Given the description of an element on the screen output the (x, y) to click on. 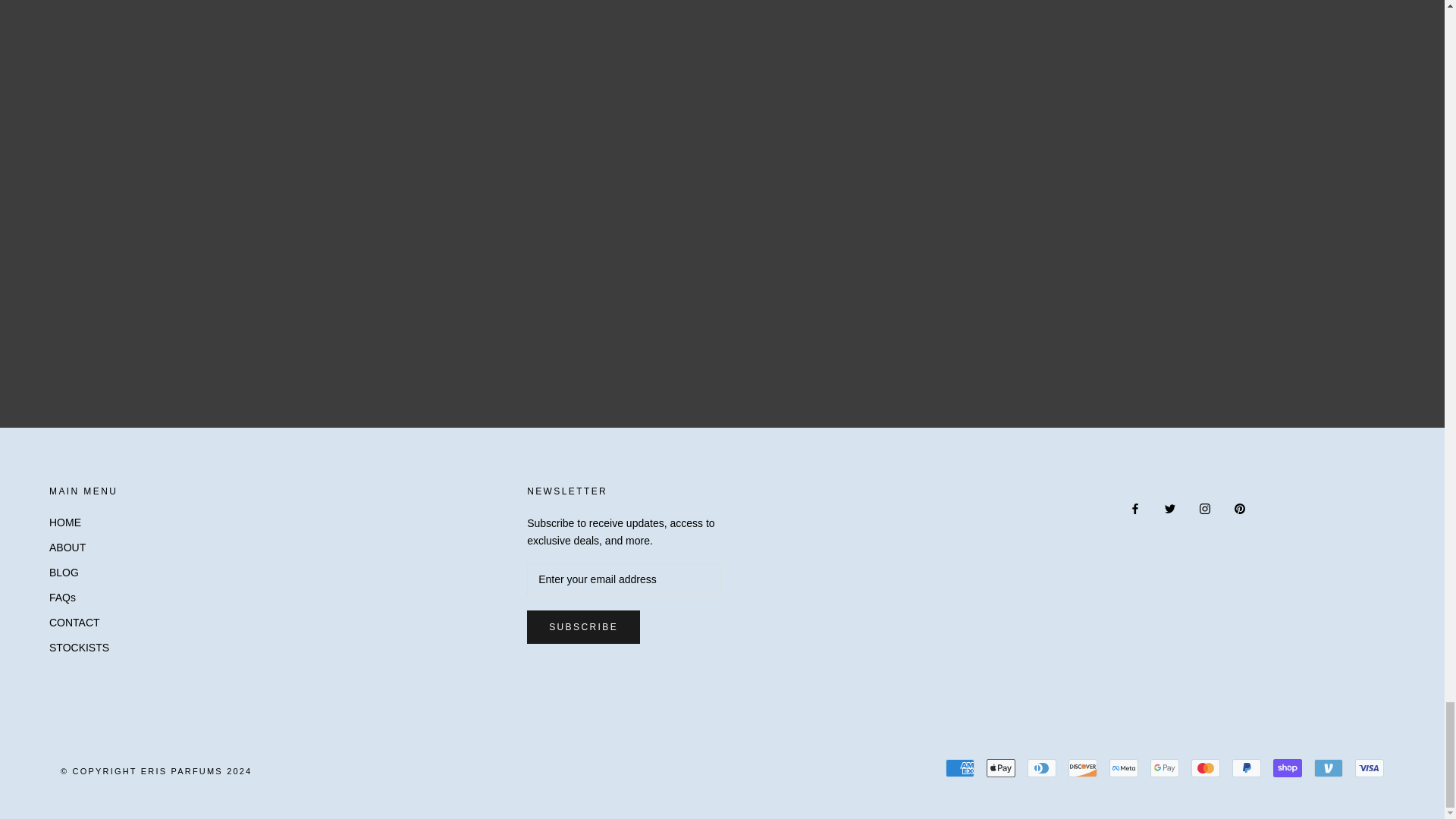
Google Pay (1164, 768)
Mastercard (1205, 768)
Apple Pay (1000, 768)
PayPal (1245, 768)
American Express (959, 768)
Meta Pay (1123, 768)
HOME (83, 522)
Shop Pay (1286, 768)
Discover (1082, 768)
Diners Club (1042, 768)
